Given the description of an element on the screen output the (x, y) to click on. 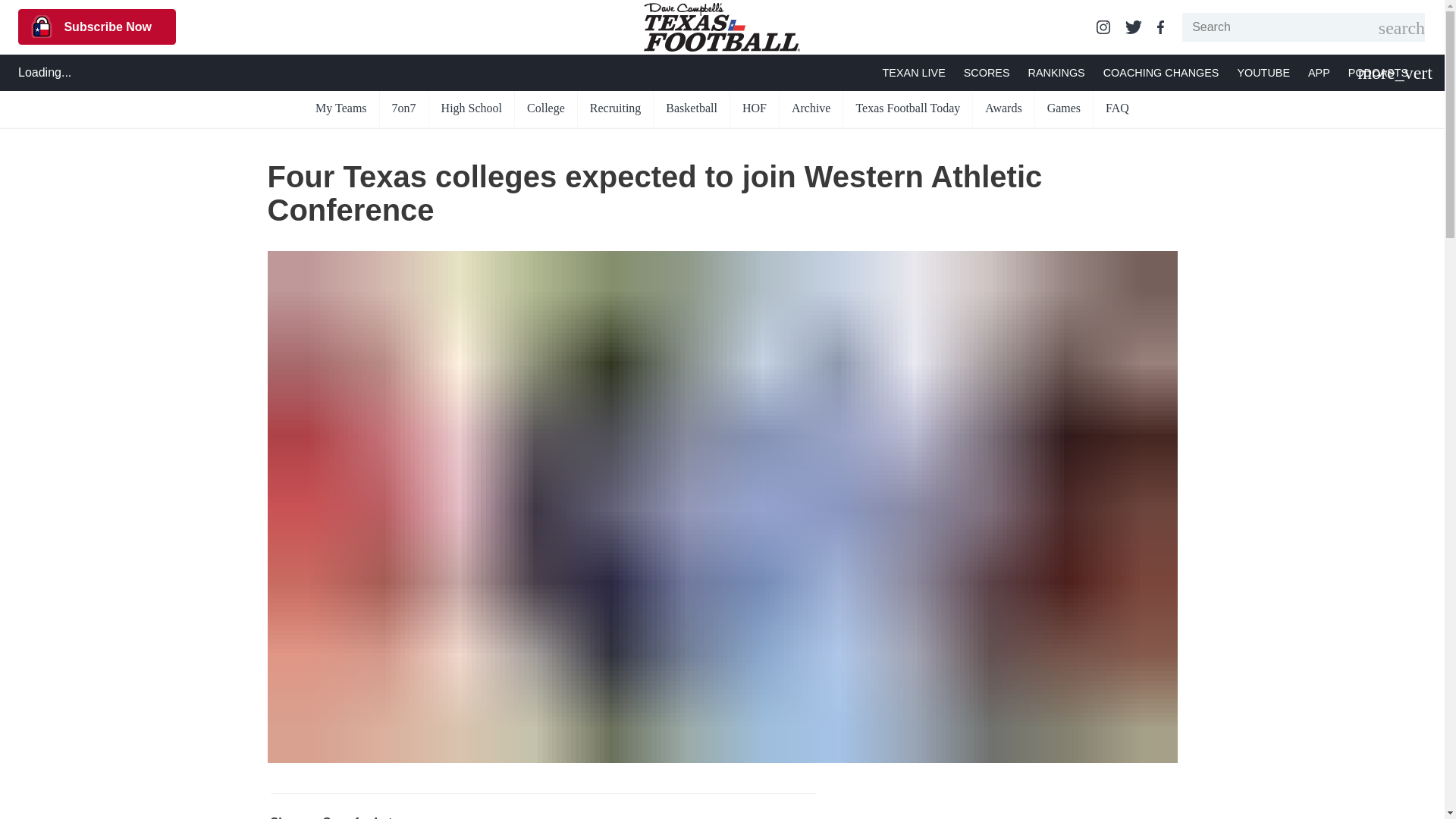
SCORES (986, 72)
RANKINGS (1055, 72)
YOUTUBE (1263, 72)
Subscribe Now (96, 27)
COACHING CHANGES (1161, 72)
PODCASTS (1377, 72)
TEXAN LIVE (913, 72)
